Given the description of an element on the screen output the (x, y) to click on. 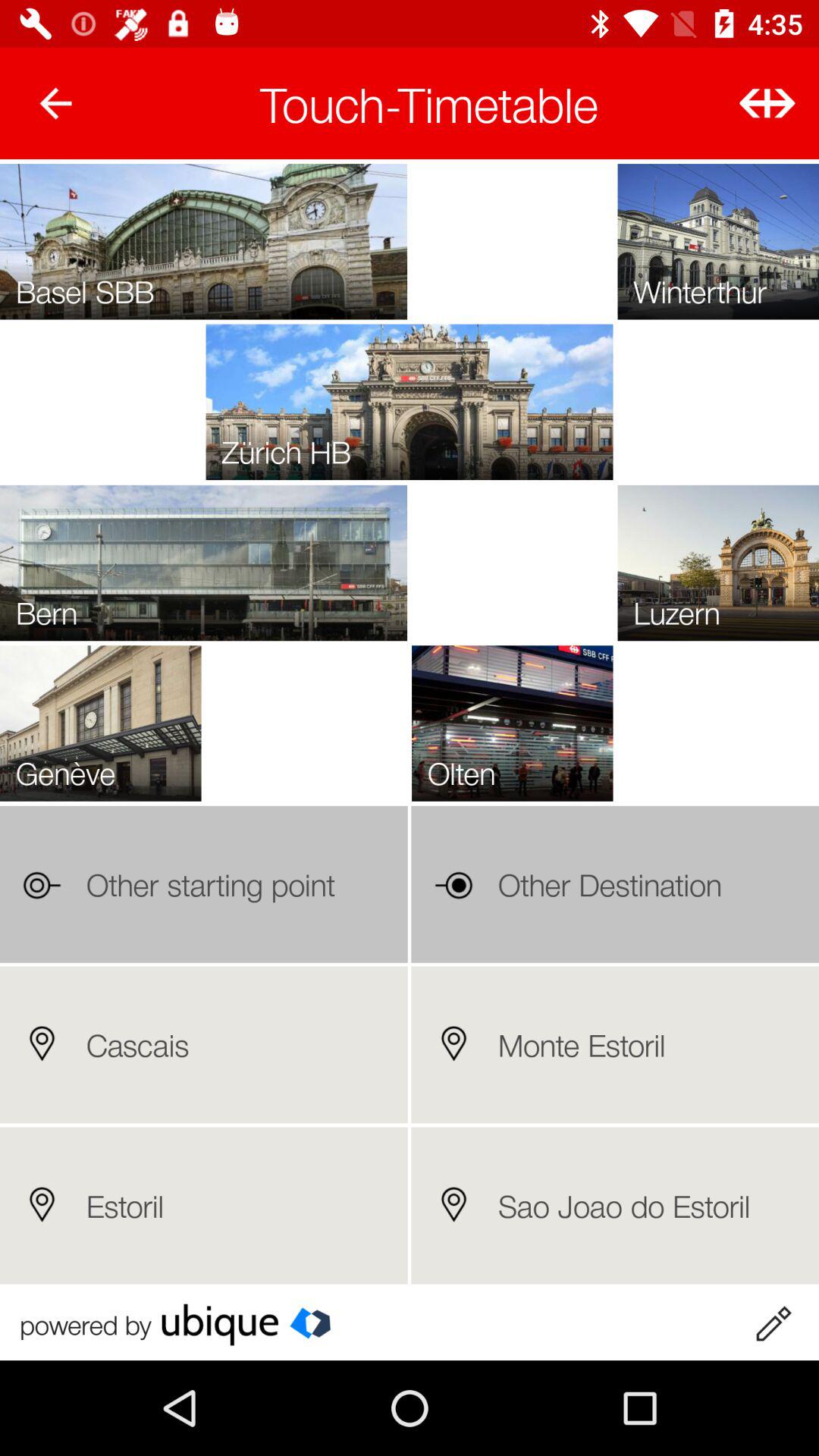
go to written (772, 1324)
